Given the description of an element on the screen output the (x, y) to click on. 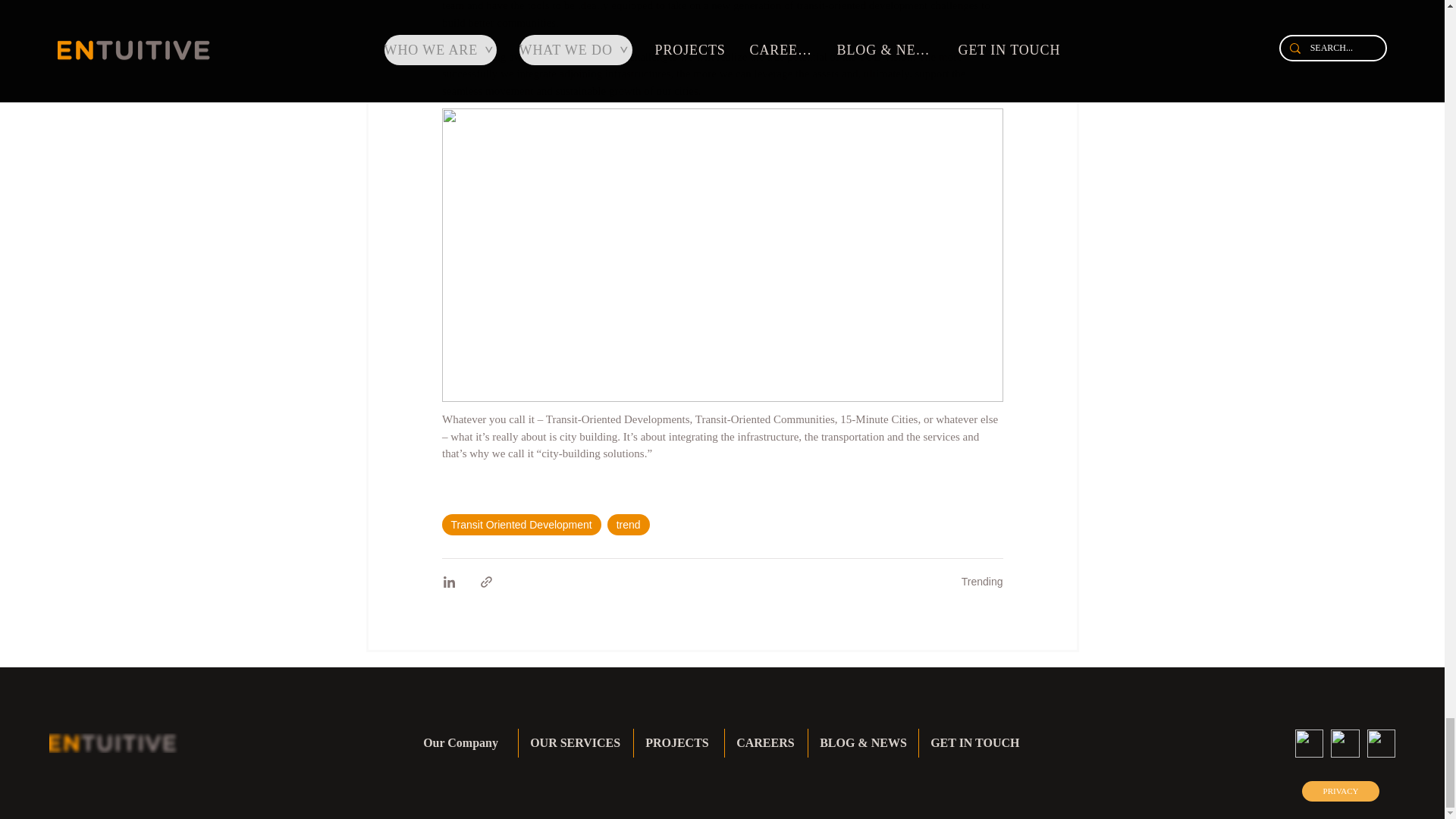
Trending (981, 581)
Our Company (465, 742)
OUR SERVICES (575, 742)
PROJECTS (678, 742)
GET IN TOUCH (975, 742)
Transit Oriented Development (520, 524)
CAREERS (766, 742)
trend (628, 524)
